Given the description of an element on the screen output the (x, y) to click on. 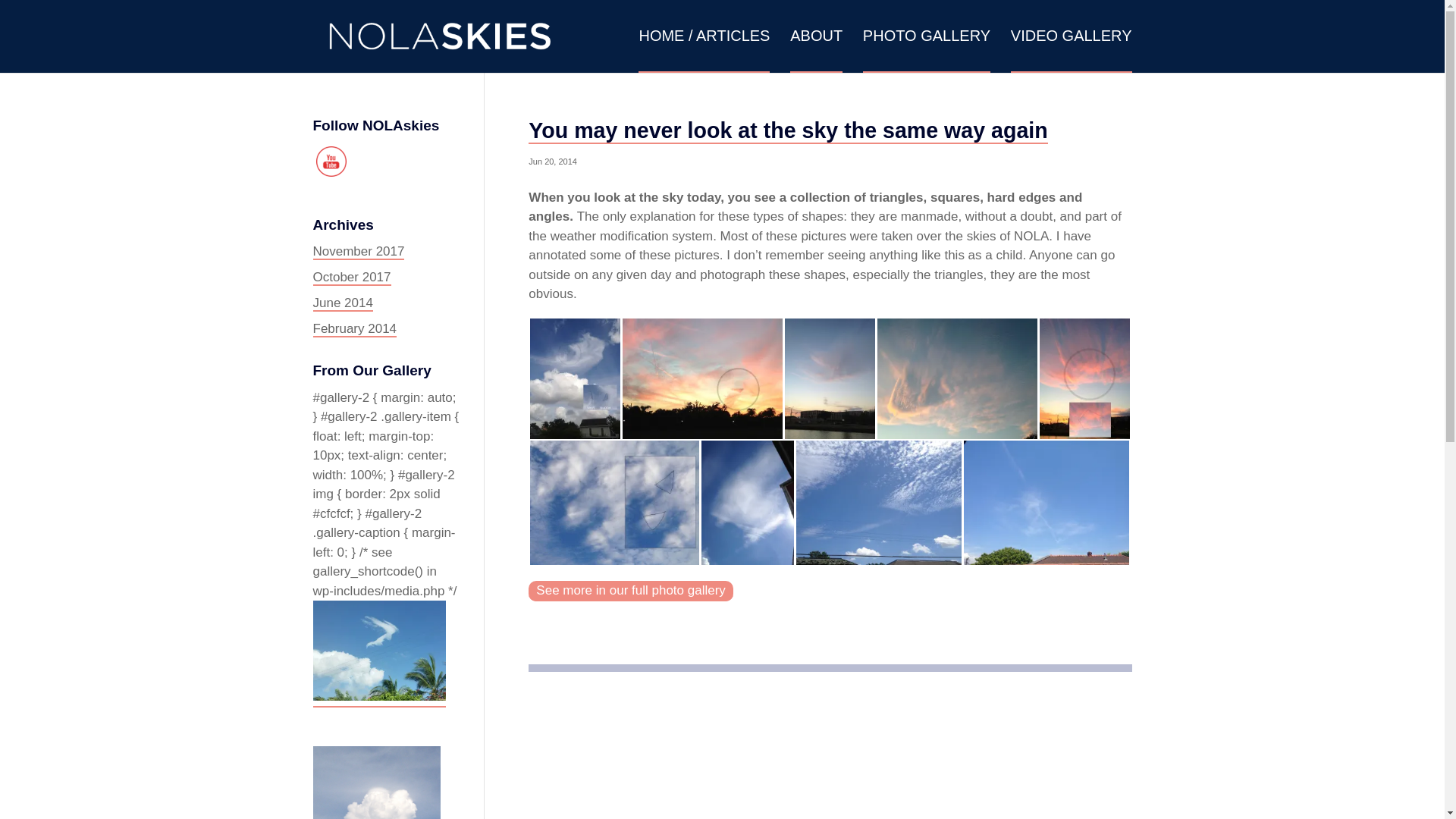
June 2014 (342, 303)
ABOUT (816, 51)
YouTube (330, 161)
VIDEO GALLERY (1071, 51)
October 2017 (351, 277)
You may never look at the sky the same way again (787, 130)
See more in our full photo gallery (630, 590)
PHOTO GALLERY (926, 51)
craft-shooting-from-cloud (574, 378)
February 2014 (354, 329)
November 2017 (358, 252)
